Given the description of an element on the screen output the (x, y) to click on. 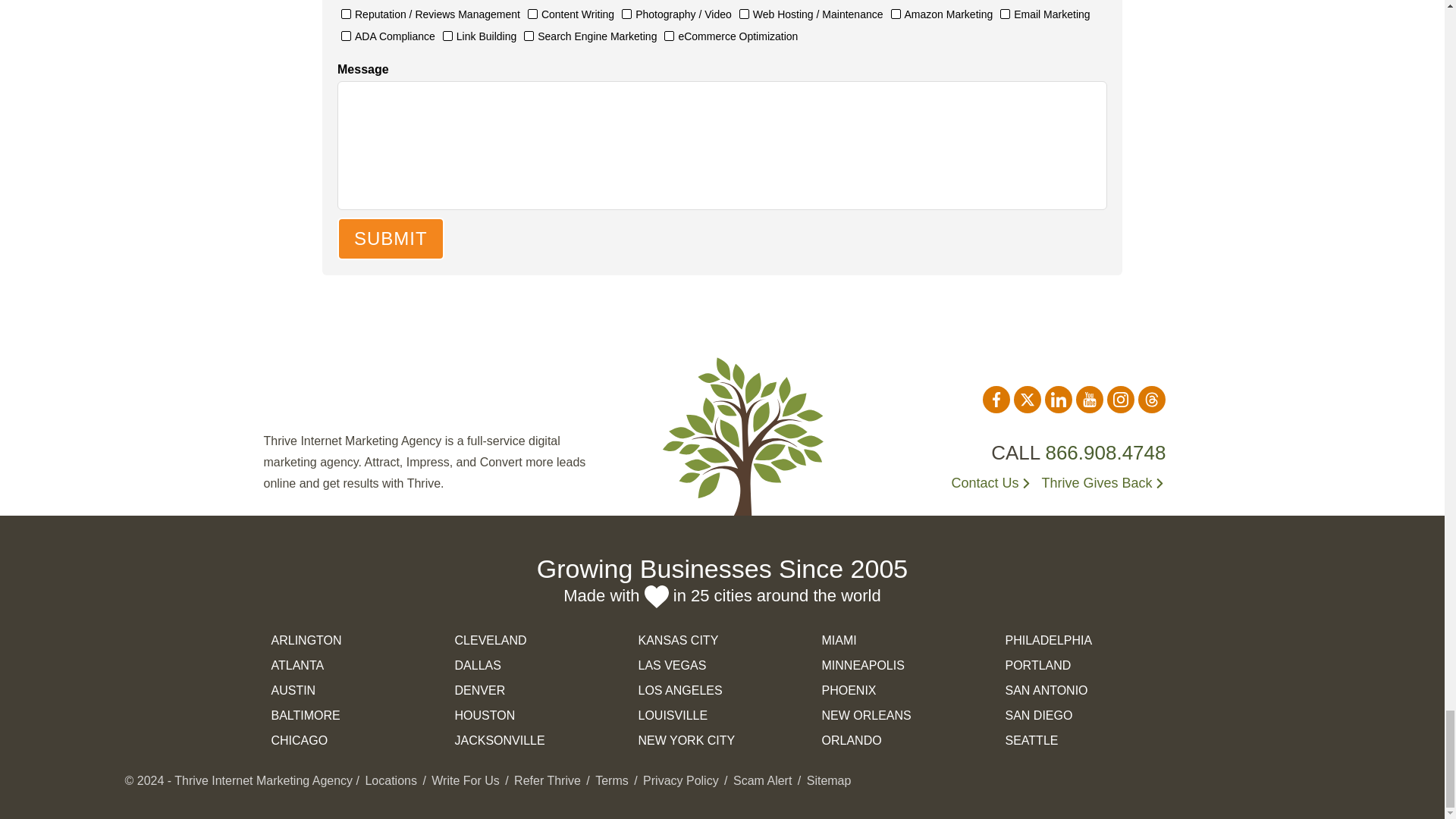
Submit (390, 238)
